Given the description of an element on the screen output the (x, y) to click on. 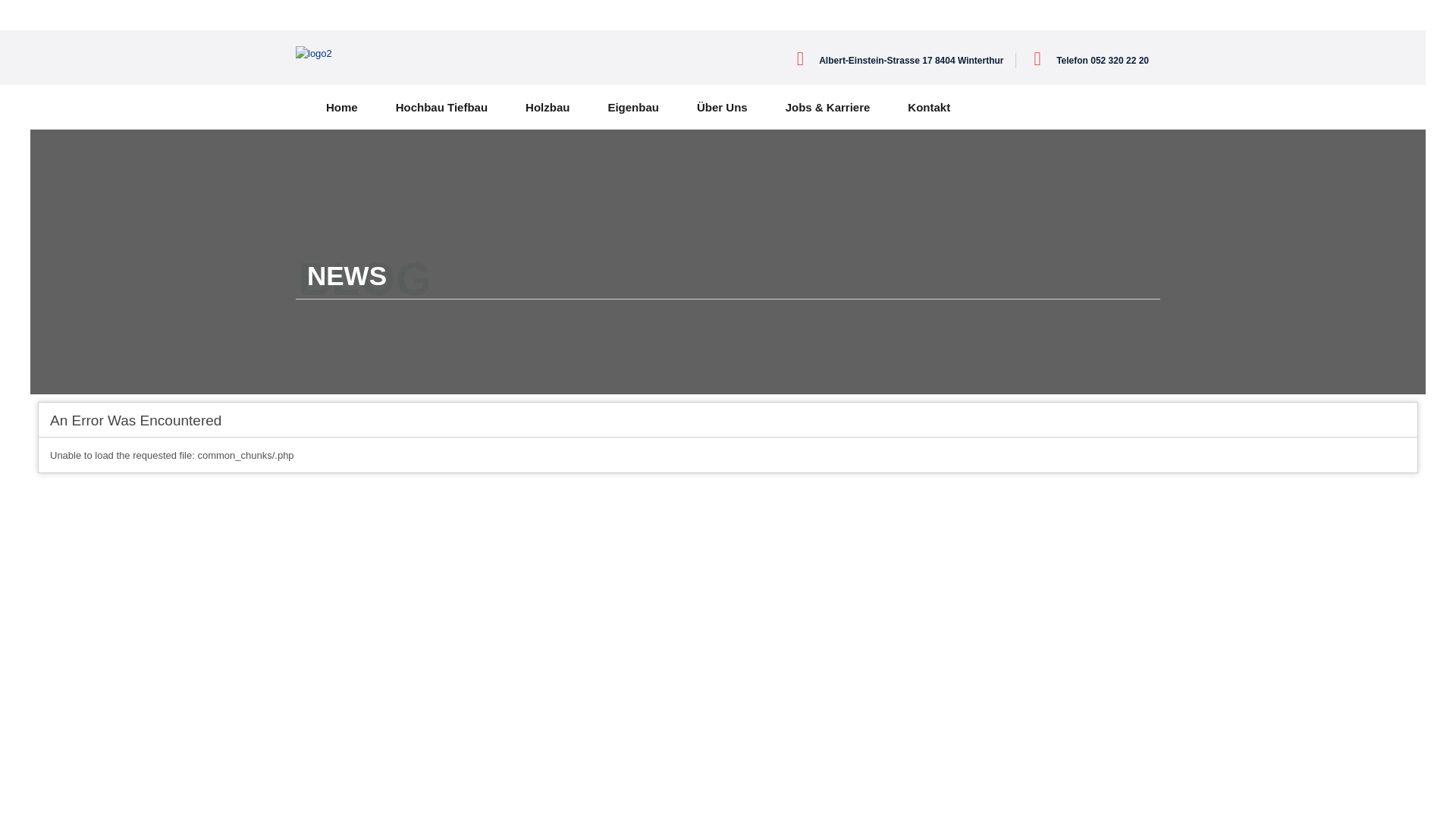
Jobs & Karriere Element type: text (827, 107)
Kontakt Element type: text (928, 107)
Holzbau Element type: text (547, 107)
Hochbau Tiefbau Element type: text (441, 107)
Home Element type: text (341, 107)
www.baltenspergerbau.ch Element type: hover (390, 53)
Eigenbau Element type: text (632, 107)
logo2 Element type: hover (313, 53)
